Given the description of an element on the screen output the (x, y) to click on. 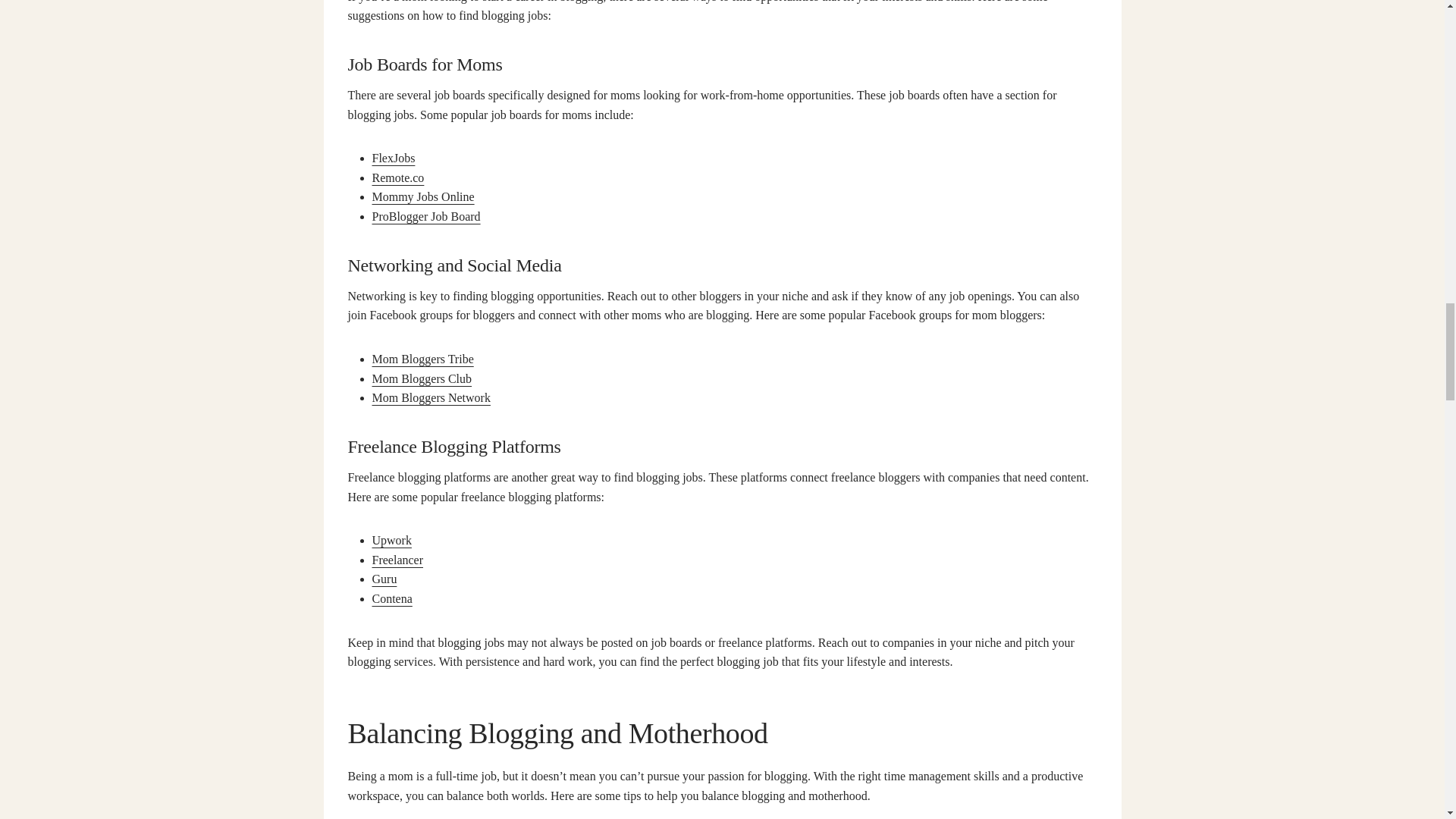
Remote.co (397, 177)
Guru (383, 578)
ProBlogger Job Board (425, 215)
Contena (391, 598)
FlexJobs (392, 157)
Mom Bloggers Club (421, 378)
Mommy Jobs Online (422, 196)
Mom Bloggers Network (430, 397)
Upwork (390, 540)
Freelancer (397, 559)
